Given the description of an element on the screen output the (x, y) to click on. 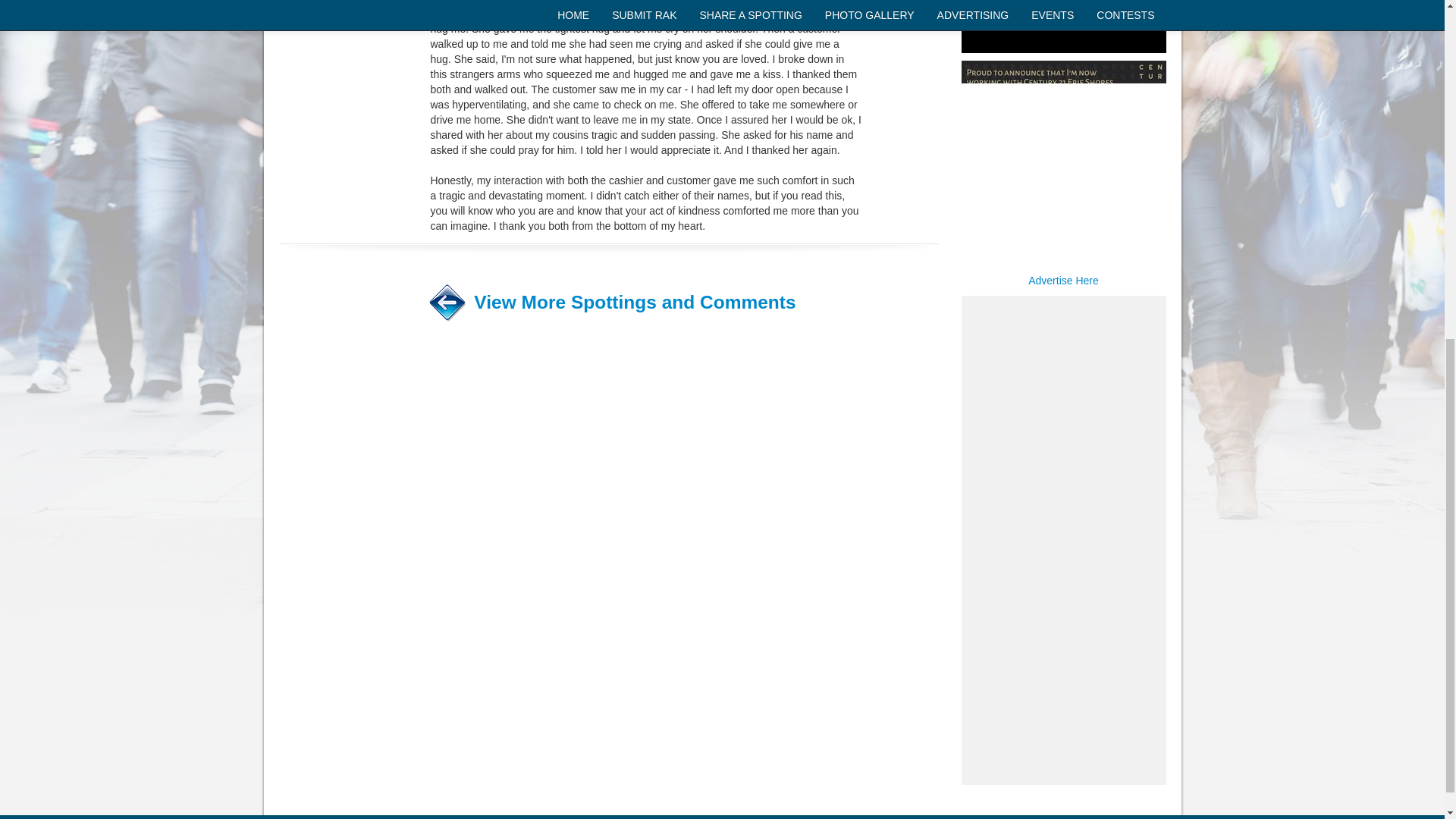
Advertise Here (1063, 280)
View More Spottings and Comments (634, 301)
